Given the description of an element on the screen output the (x, y) to click on. 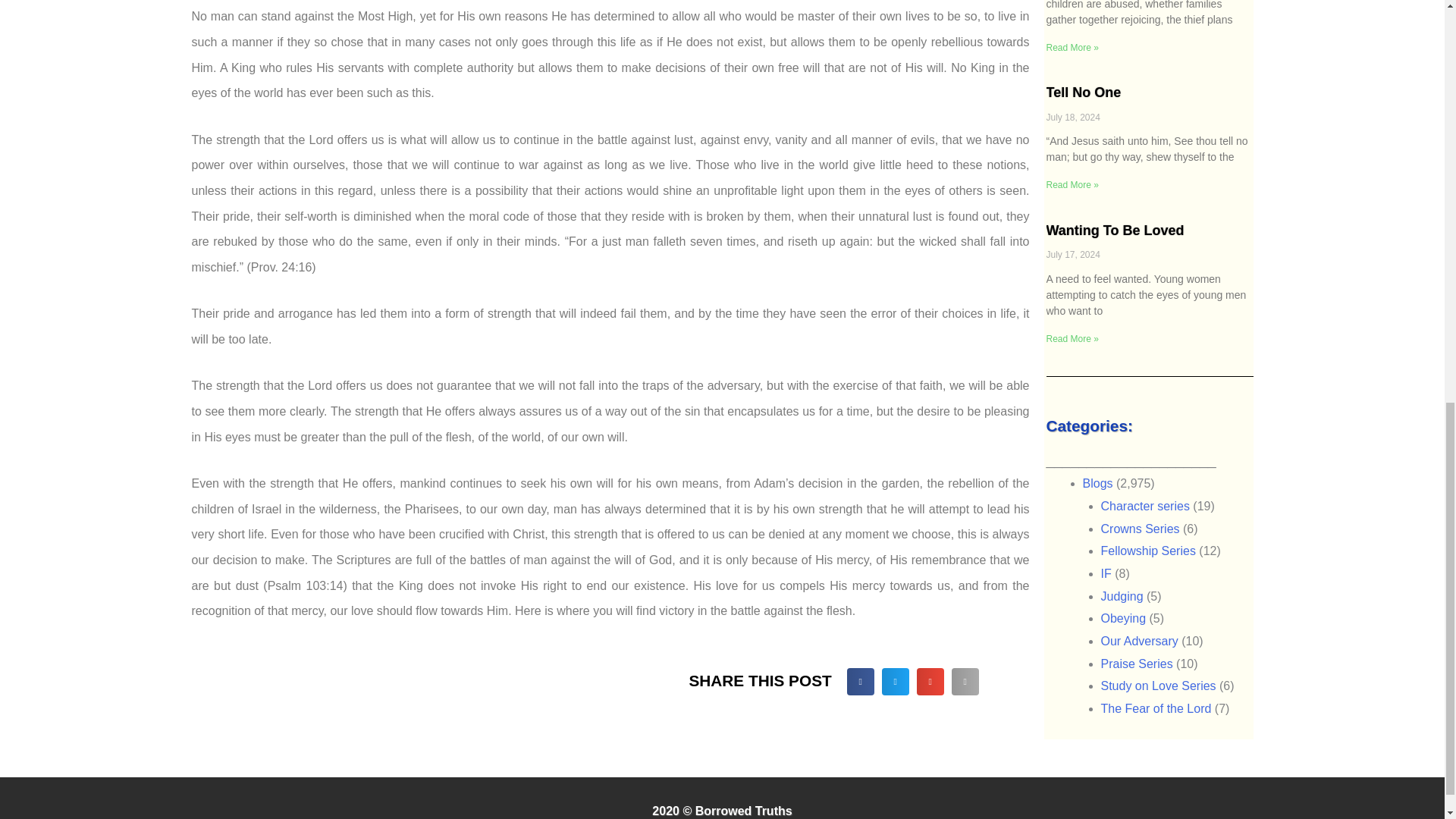
Judging (1121, 595)
Blogs (1098, 482)
Crowns Series (1139, 528)
Praise Series (1136, 663)
Fellowship Series (1147, 550)
Obeying (1123, 617)
Study on Love Series (1157, 685)
Our Adversary (1138, 640)
The Fear of the Lord (1155, 707)
Tell No One (1083, 92)
Character series (1144, 505)
Wanting To Be Loved (1115, 230)
